Given the description of an element on the screen output the (x, y) to click on. 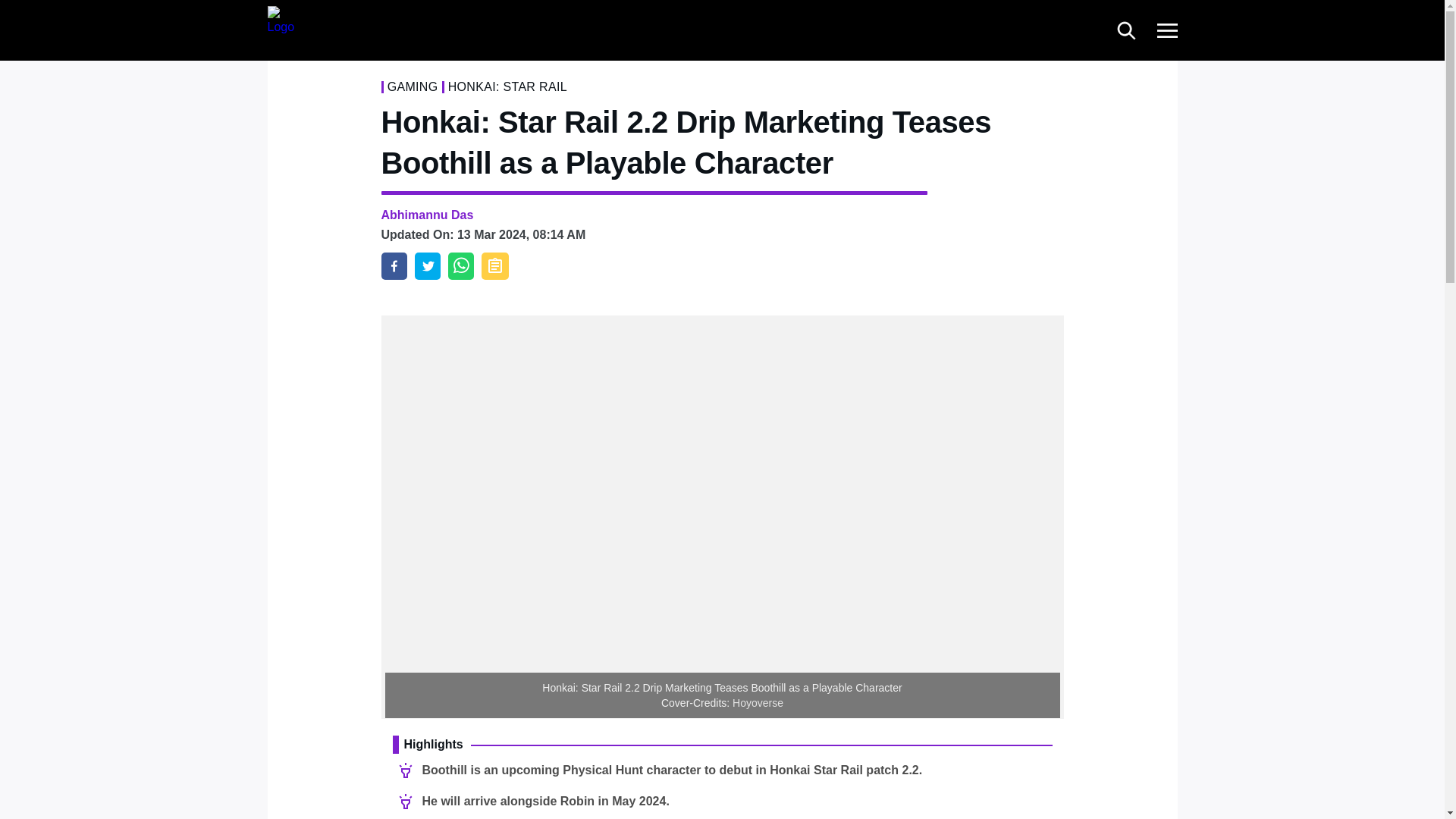
Abhimannu Das (426, 214)
HONKAI: STAR RAIL (507, 87)
GAMING (412, 87)
